Given the description of an element on the screen output the (x, y) to click on. 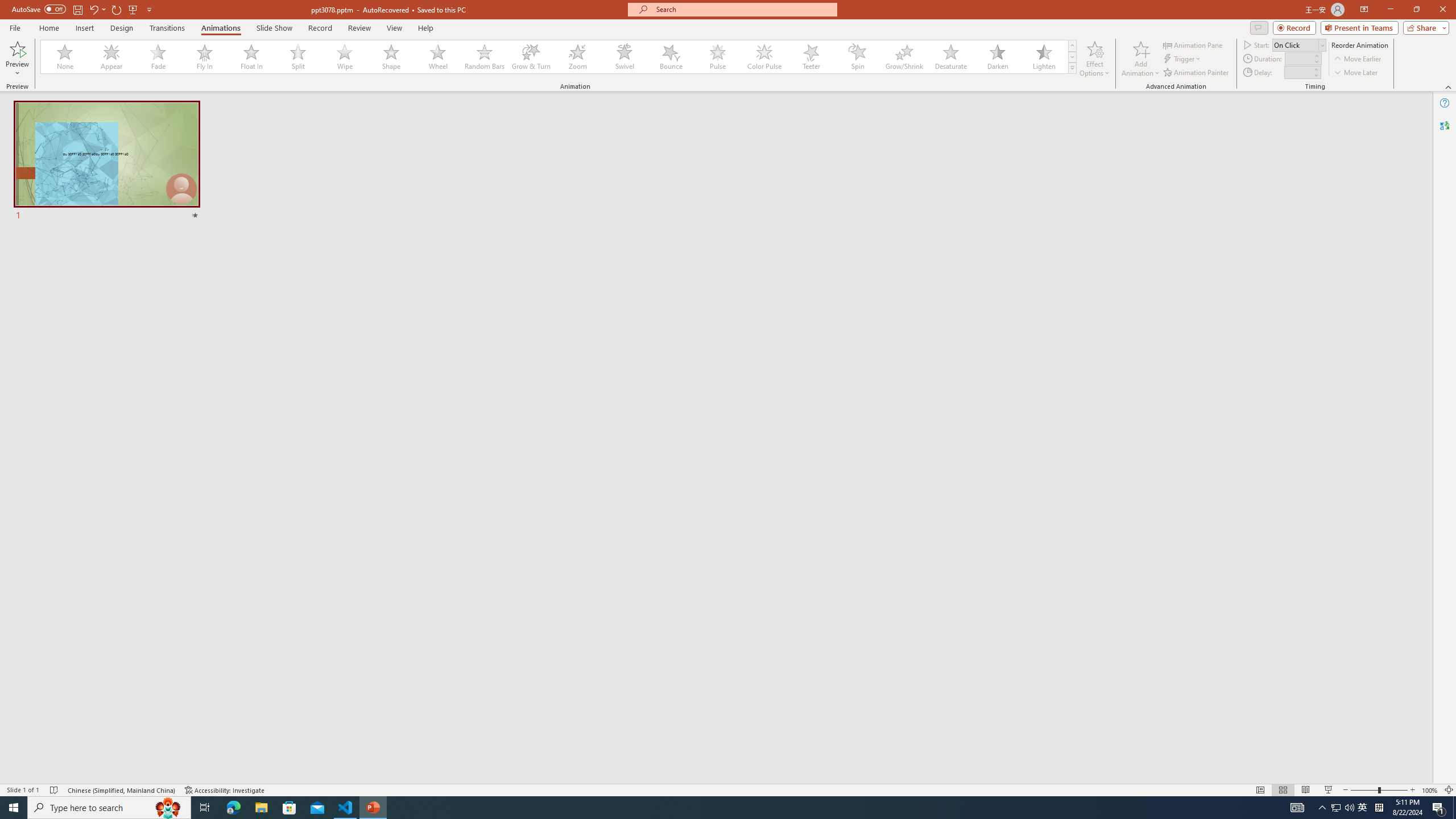
Move Earlier (1357, 58)
Color Pulse (764, 56)
